Given the description of an element on the screen output the (x, y) to click on. 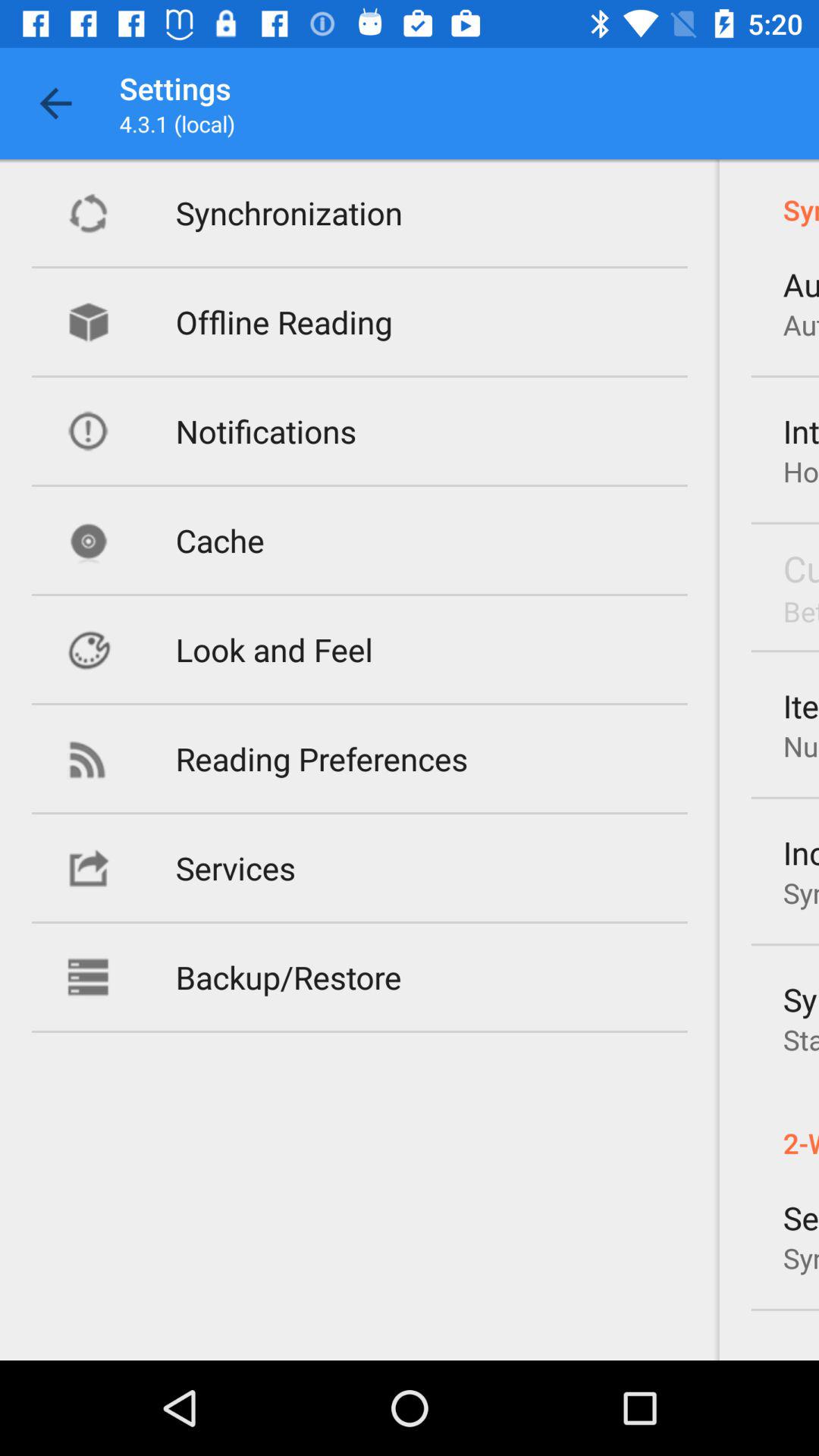
scroll until the services (235, 867)
